Given the description of an element on the screen output the (x, y) to click on. 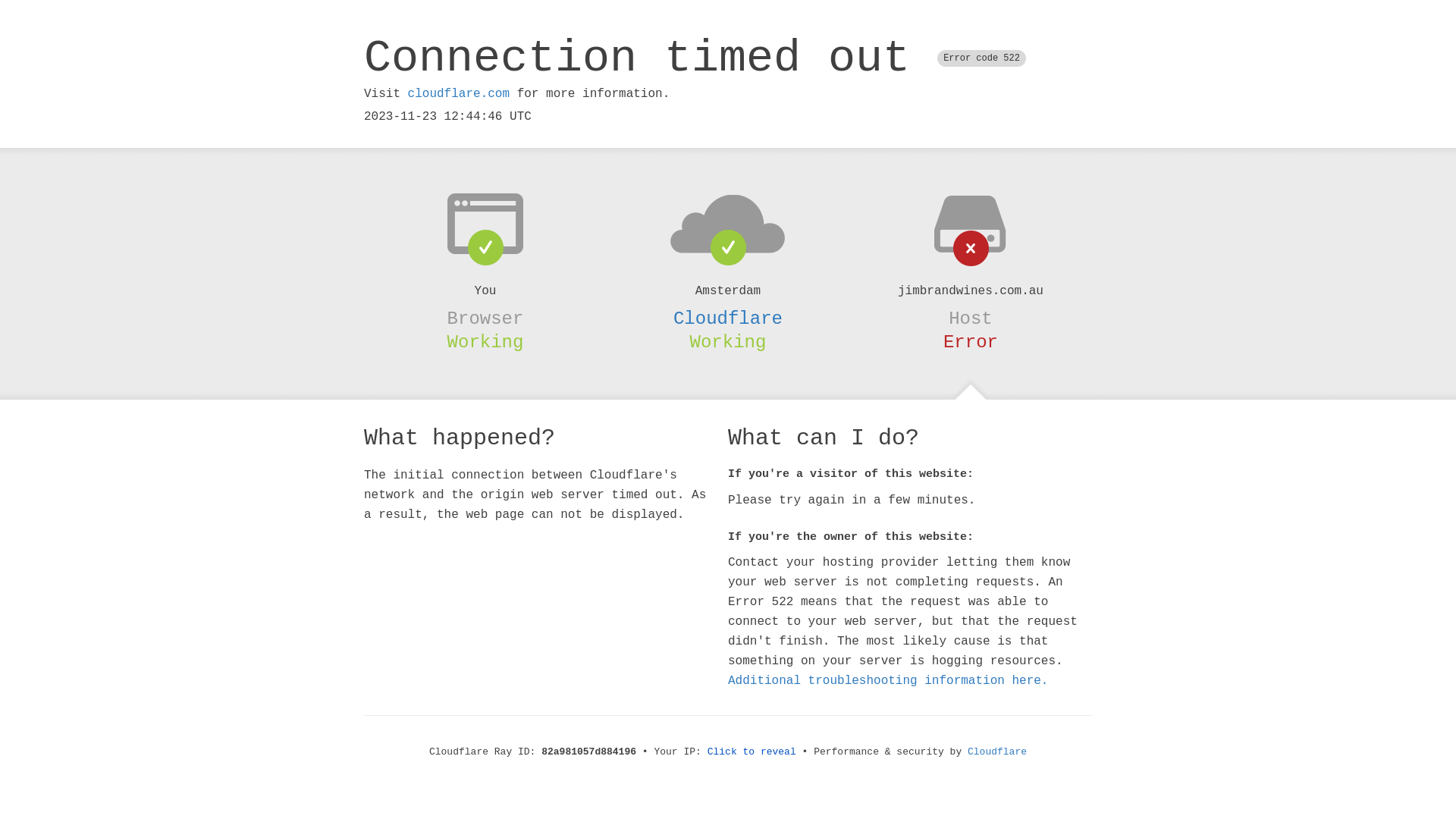
Cloudflare Element type: text (727, 318)
Additional troubleshooting information here. Element type: text (888, 680)
Click to reveal Element type: text (751, 751)
cloudflare.com Element type: text (458, 93)
Cloudflare Element type: text (996, 751)
